Given the description of an element on the screen output the (x, y) to click on. 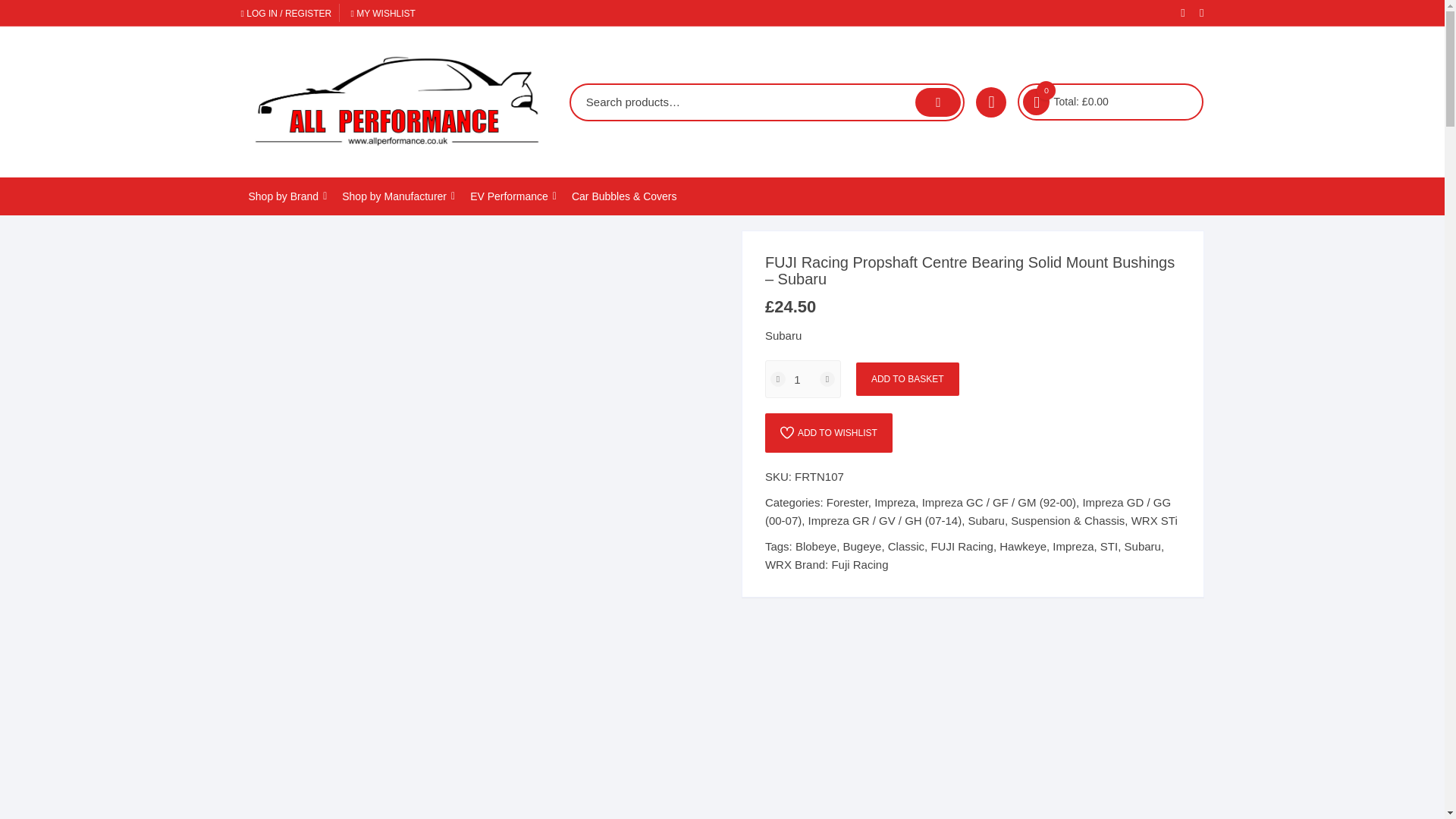
Shop by Manufacturer (398, 196)
Shop by Brand (287, 196)
0 (1036, 101)
MY WISHLIST (382, 13)
1 (803, 379)
